Given the description of an element on the screen output the (x, y) to click on. 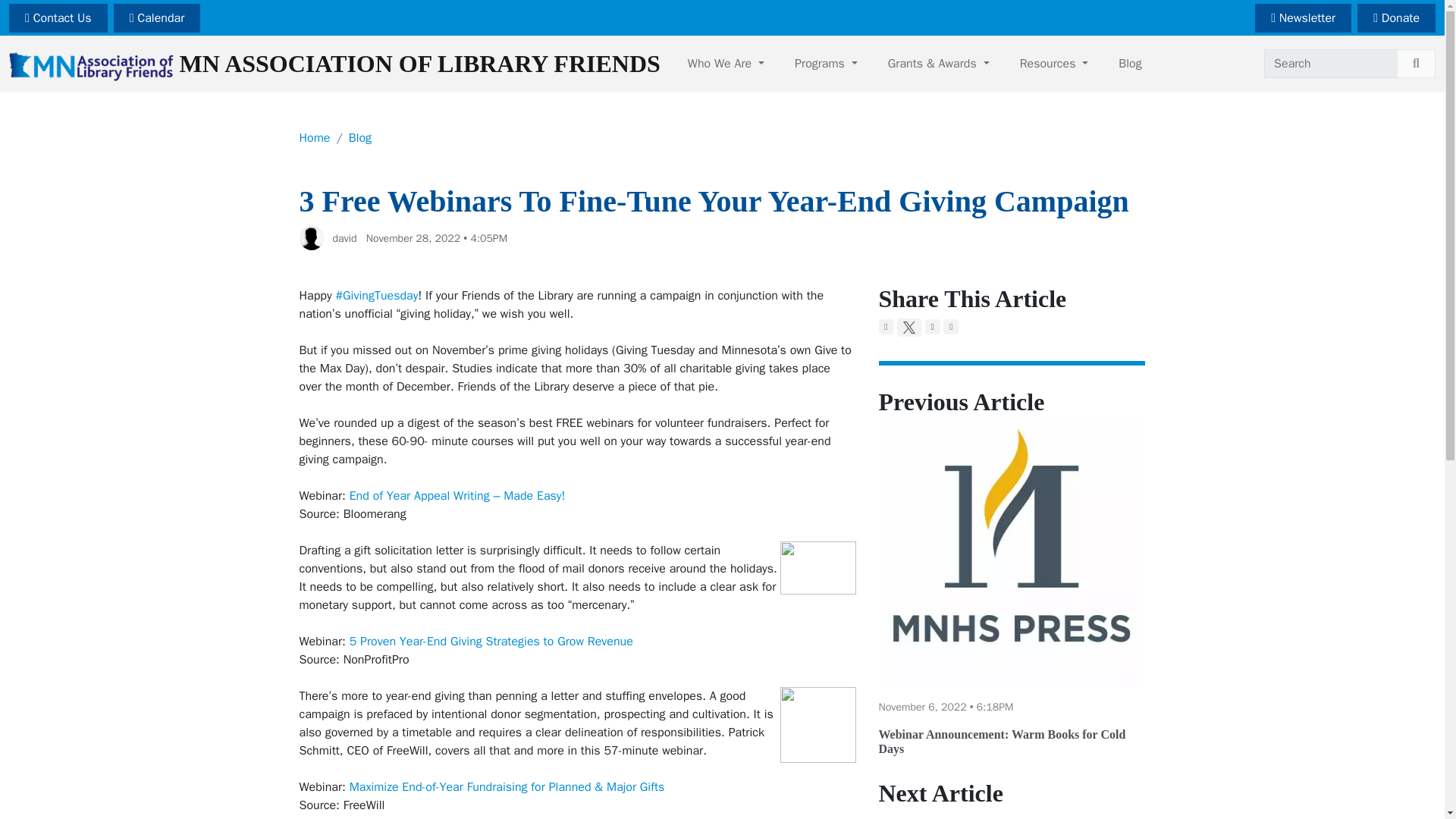
Resources (1053, 63)
Contact Us (57, 18)
Blog (360, 137)
Calendar (156, 18)
Who We Are (725, 63)
5 Proven Year-End Giving Strategies to Grow Revenue (491, 641)
Home (314, 137)
Donate (1395, 18)
Newsletter (1303, 18)
MN ASSOCIATION OF LIBRARY FRIENDS (334, 63)
